Given the description of an element on the screen output the (x, y) to click on. 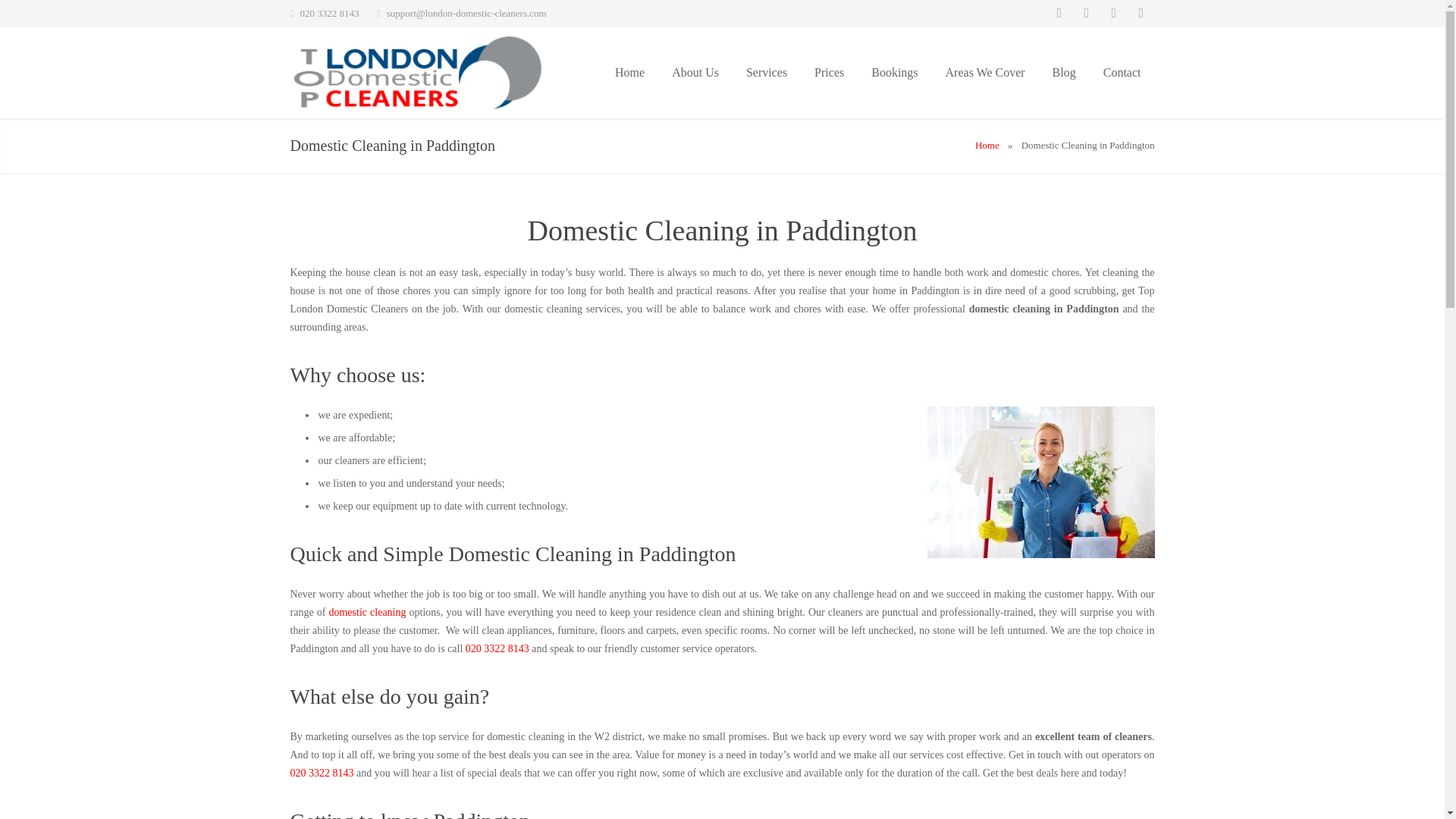
domestic cleaning (367, 612)
Home (986, 144)
020 3322 8143 (321, 772)
Areas We Cover (985, 72)
020 3322 8143 (497, 648)
